Given the description of an element on the screen output the (x, y) to click on. 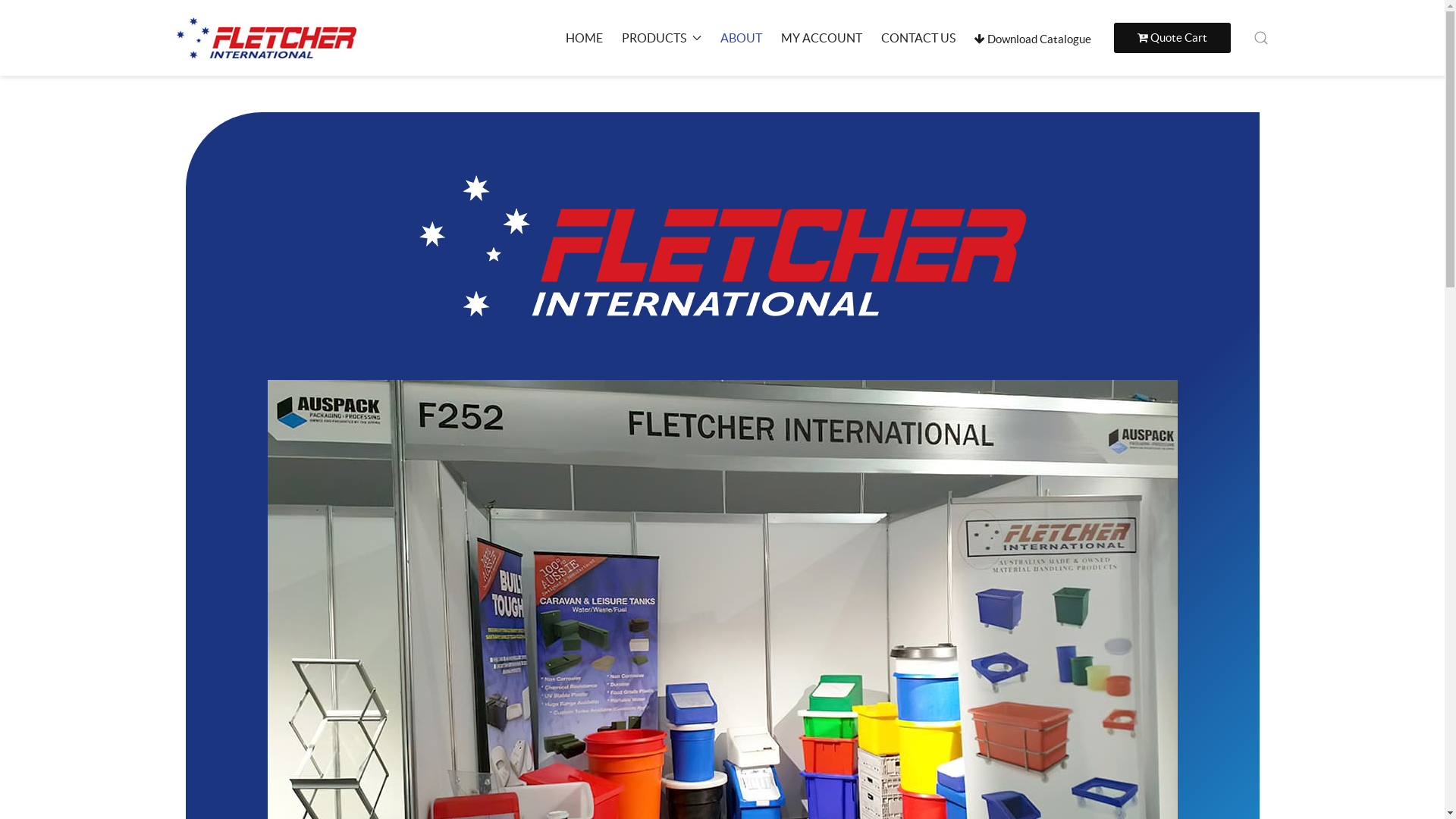
Search Icon Element type: hover (1259, 37)
PRODUCTS Element type: text (661, 37)
CONTACT US Element type: text (918, 37)
Quote Cart Element type: text (1171, 37)
MY ACCOUNT Element type: text (821, 37)
ABOUT Element type: text (741, 37)
HOME Element type: text (583, 37)
Download Catalogue Element type: text (1031, 39)
